Given the description of an element on the screen output the (x, y) to click on. 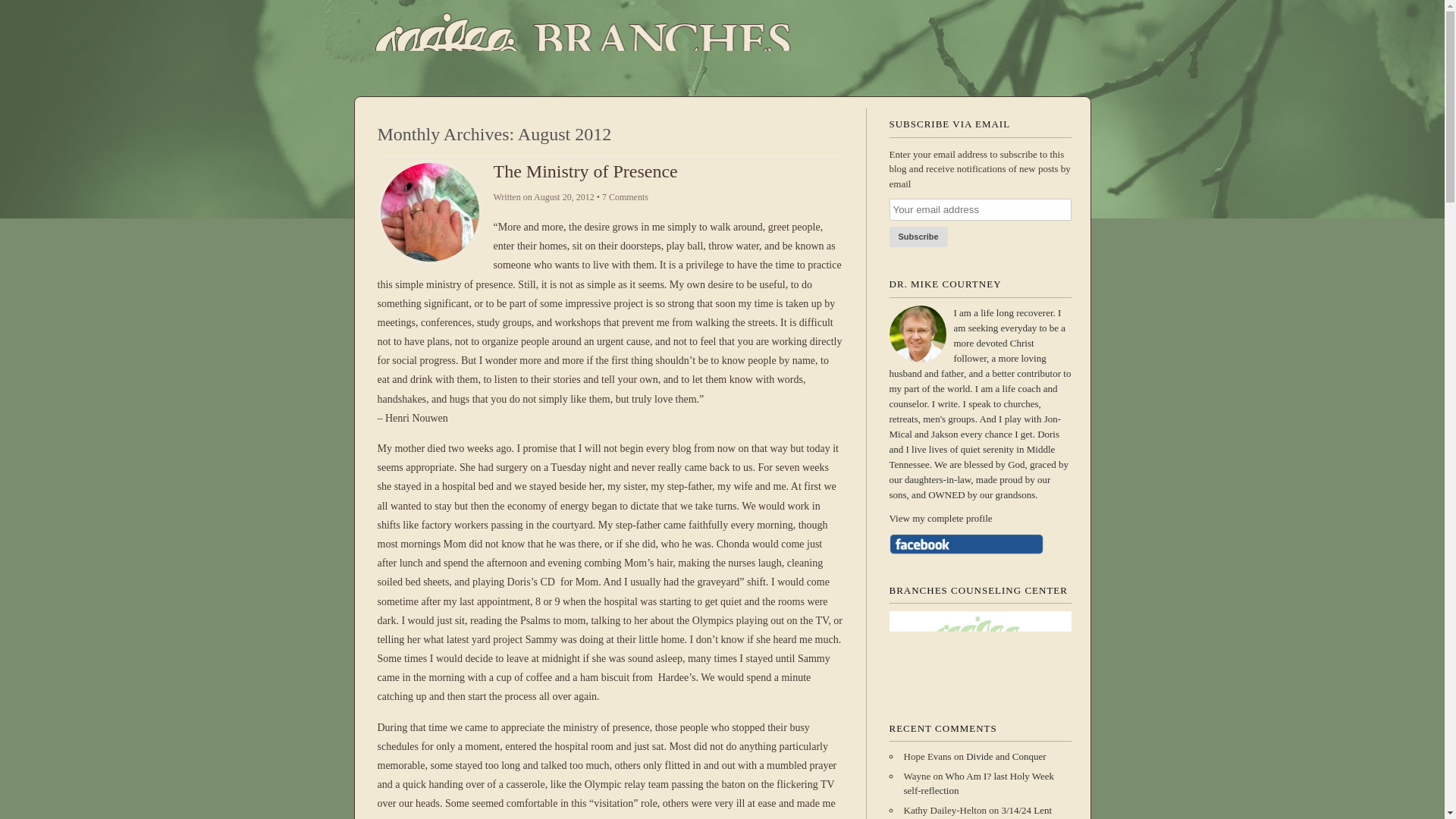
Divide and Conquer (1005, 756)
The Ministry of Presence (585, 170)
7 Comments (624, 196)
The Ministry of Presence (585, 170)
Subscribe (917, 236)
Subscribe (917, 236)
Who Am I? last Holy Week self-reflection (979, 783)
View my complete profile (979, 518)
